Given the description of an element on the screen output the (x, y) to click on. 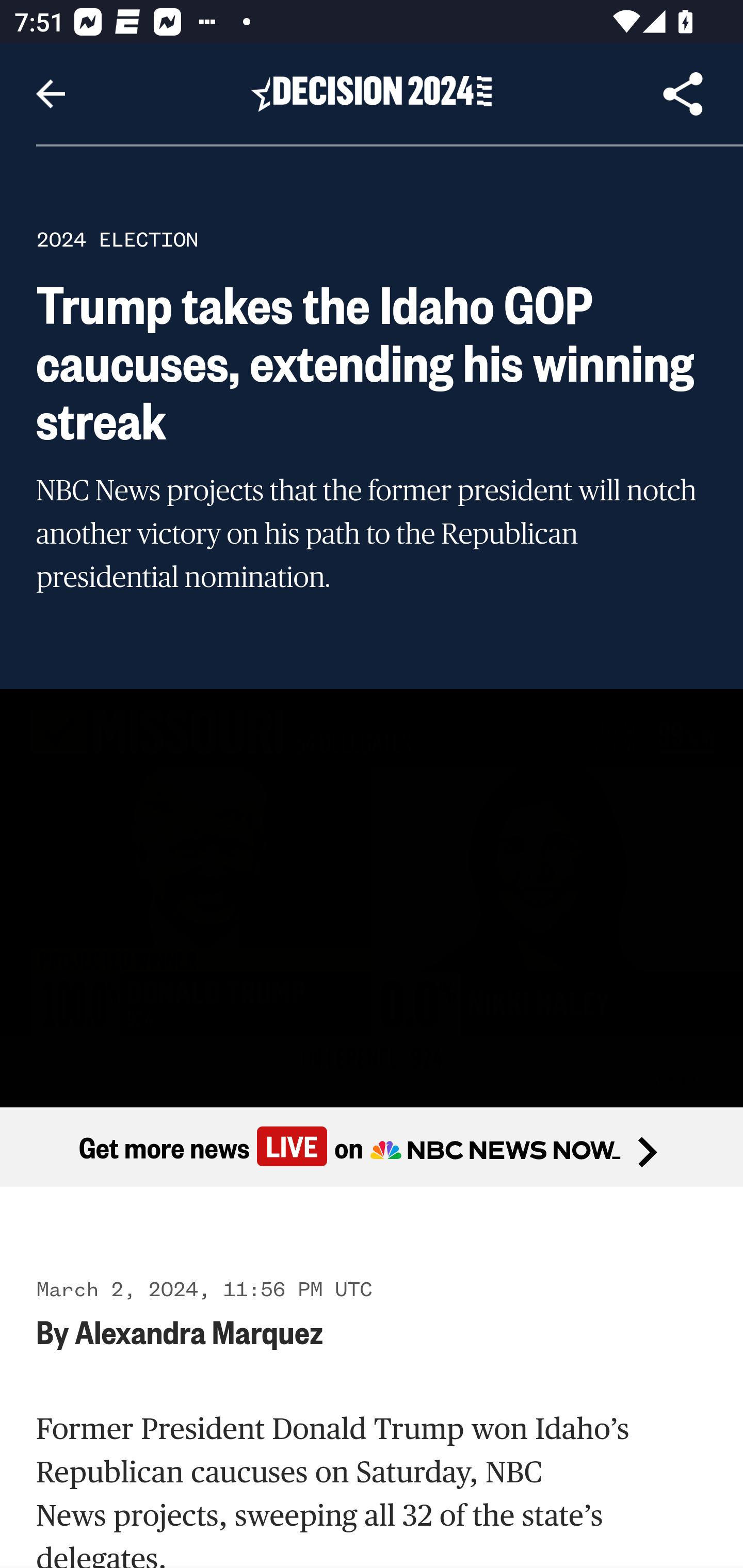
Navigate up (50, 93)
Share Article, button (683, 94)
Header, Decision 2024 (371, 93)
2024 ELECTION (117, 239)
Get more news Live on Get more news Live on (371, 1147)
